Given the description of an element on the screen output the (x, y) to click on. 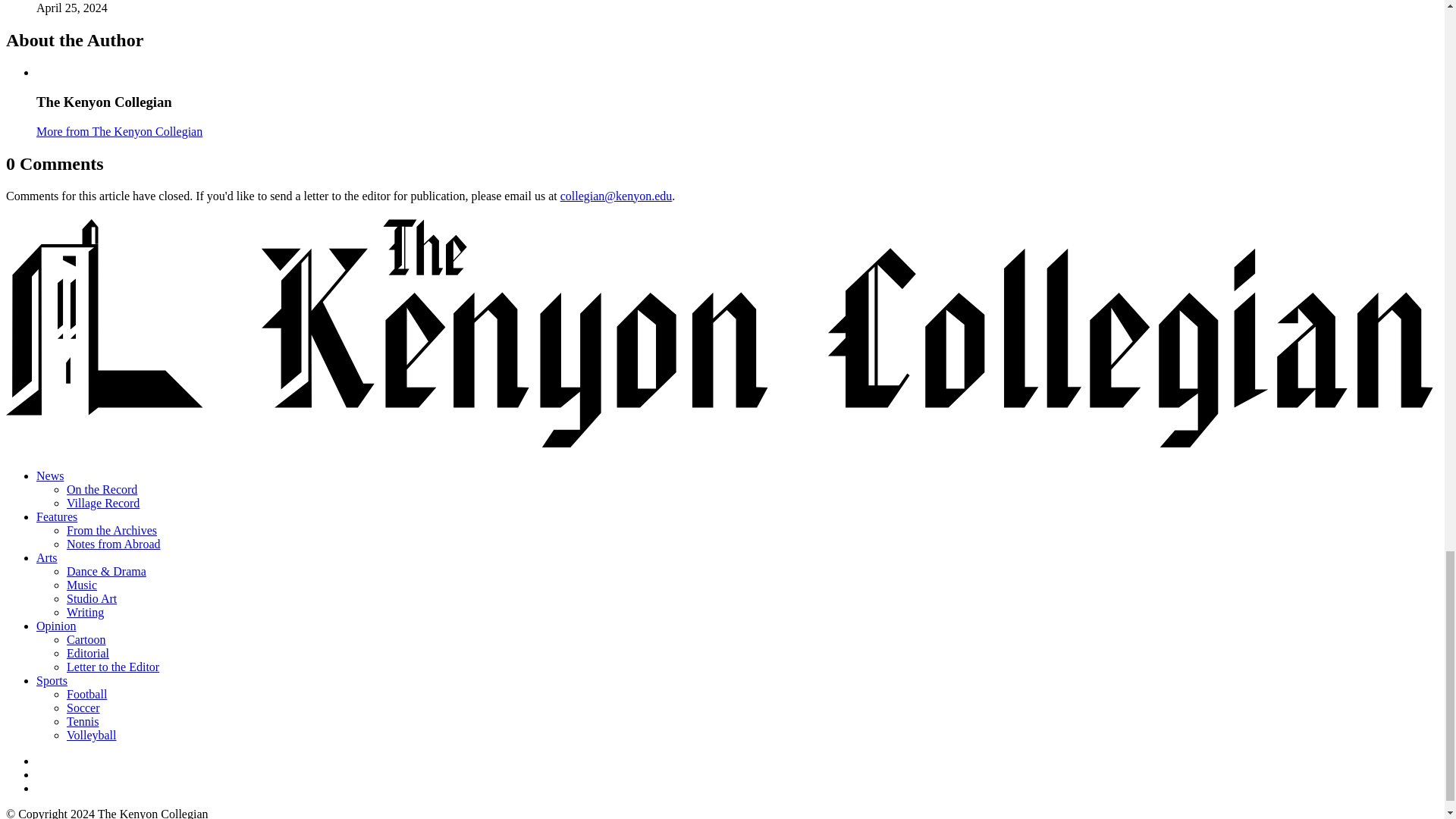
More from The Kenyon Collegian (119, 131)
News (50, 475)
Village Record (102, 502)
Notes from Abroad (113, 543)
Arts (47, 557)
From the Archives (111, 530)
Features (56, 516)
On the Record (101, 489)
